Given the description of an element on the screen output the (x, y) to click on. 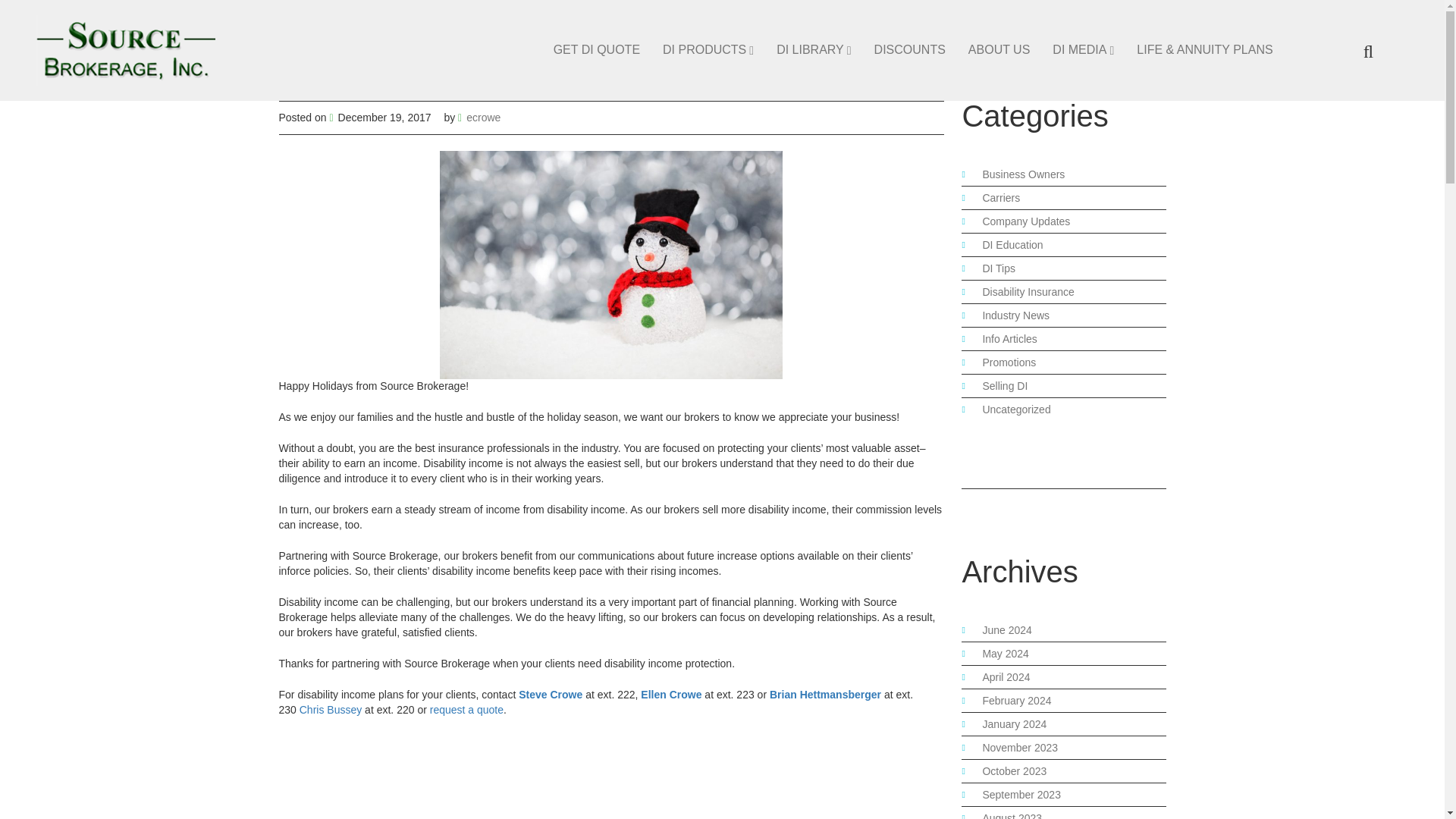
Posts by ecrowe (482, 117)
ecrowe (482, 117)
DI LIBRARY (813, 49)
ABOUT US (999, 49)
GET DI QUOTE (596, 49)
Search (1346, 89)
DI PRODUCTS (708, 49)
Brian Hettmansberger (825, 694)
Chris Bussey (330, 709)
DISCOUNTS (909, 49)
request a quote (466, 709)
Ellen Crowe (670, 694)
DI MEDIA (1082, 49)
Steve Crowe (550, 694)
